Given the description of an element on the screen output the (x, y) to click on. 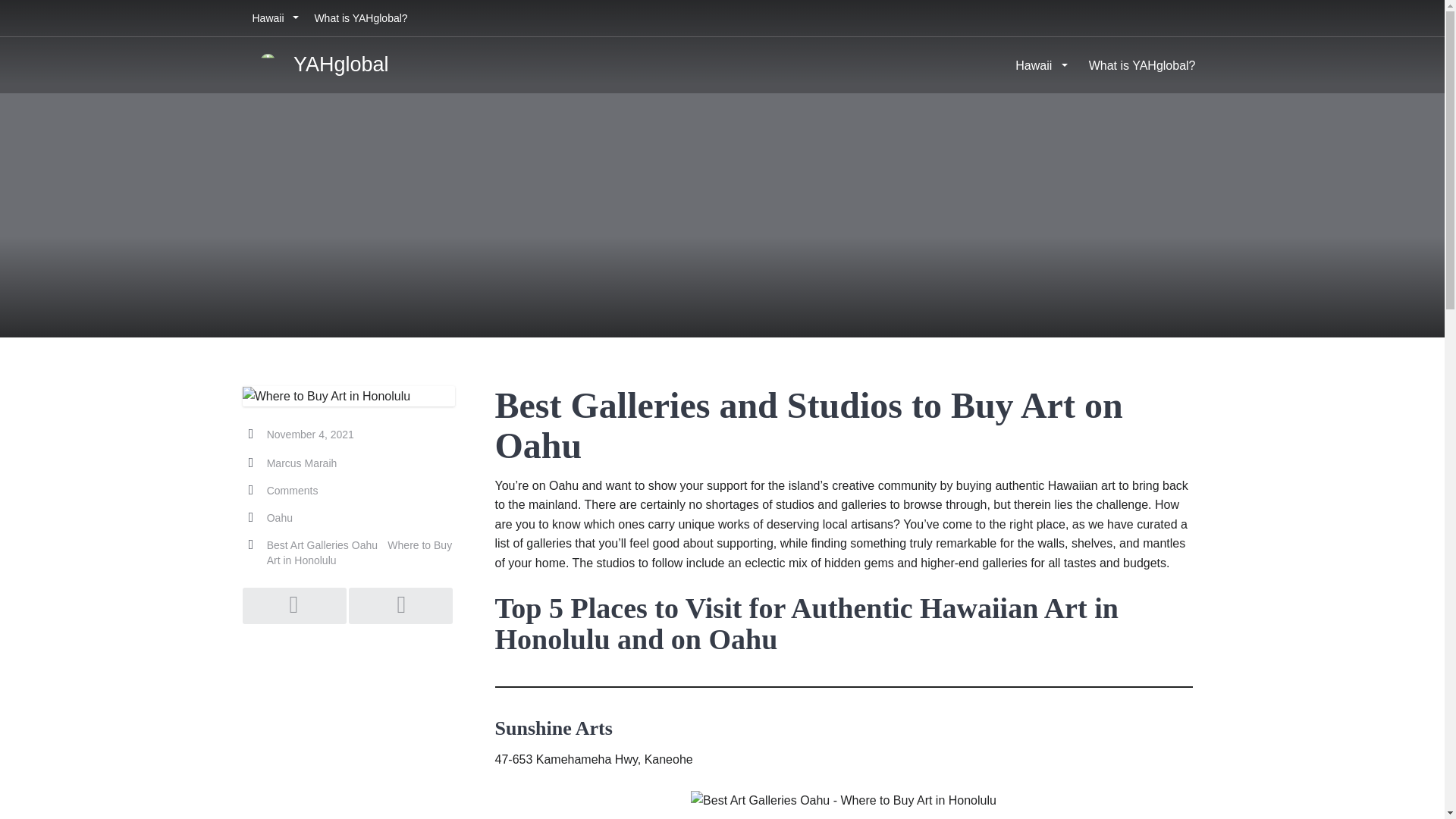
Posts by Marcus Maraih (301, 463)
Hawaii (273, 18)
Hawaii (1039, 64)
What is YAHglobal? (360, 18)
Best Art Galleries Oahu (321, 544)
Marcus Maraih (301, 463)
Oahu (279, 517)
Comments (292, 490)
 YAHglobal (319, 63)
YAHglobal (319, 63)
